Given the description of an element on the screen output the (x, y) to click on. 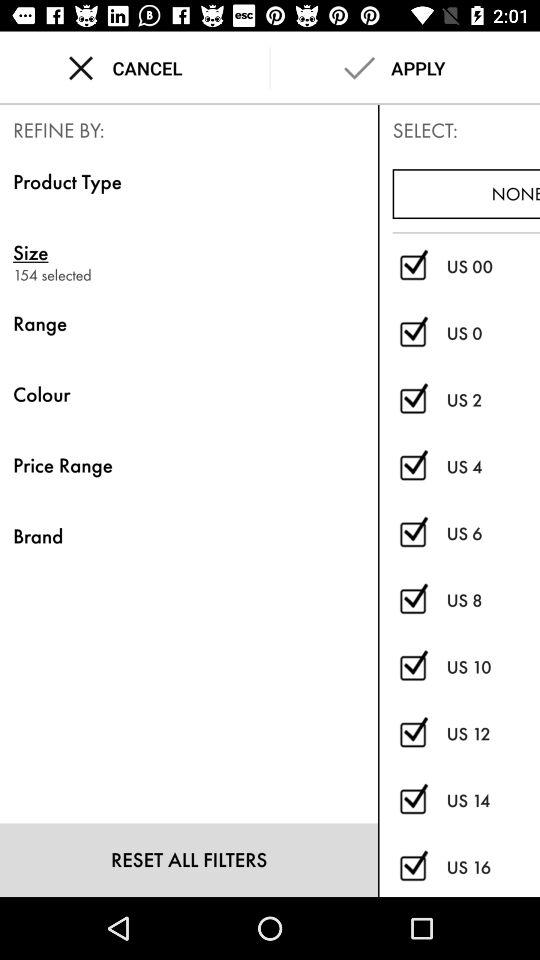
flip to us 8 (493, 600)
